Given the description of an element on the screen output the (x, y) to click on. 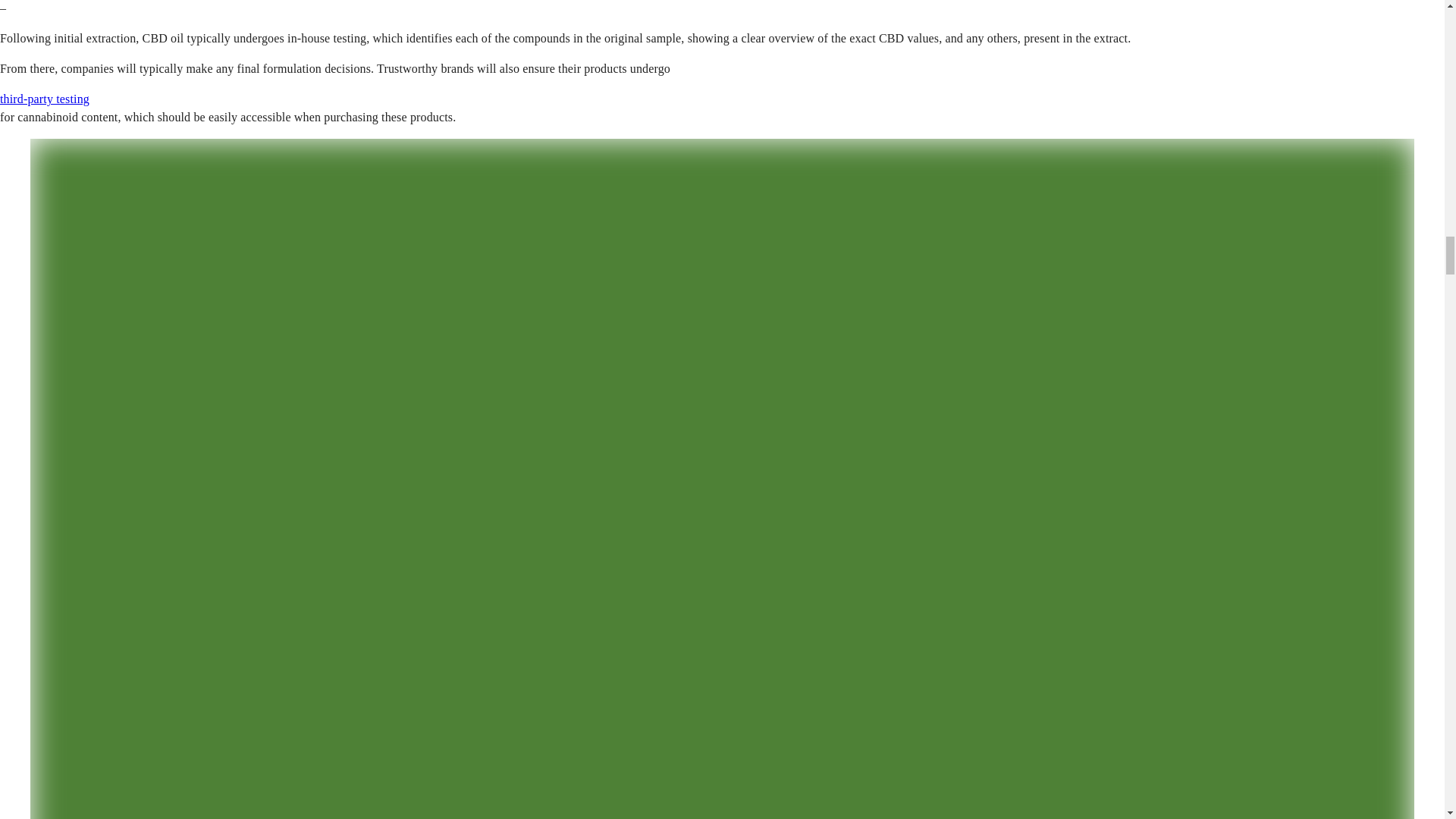
third-party testing (44, 98)
